Given the description of an element on the screen output the (x, y) to click on. 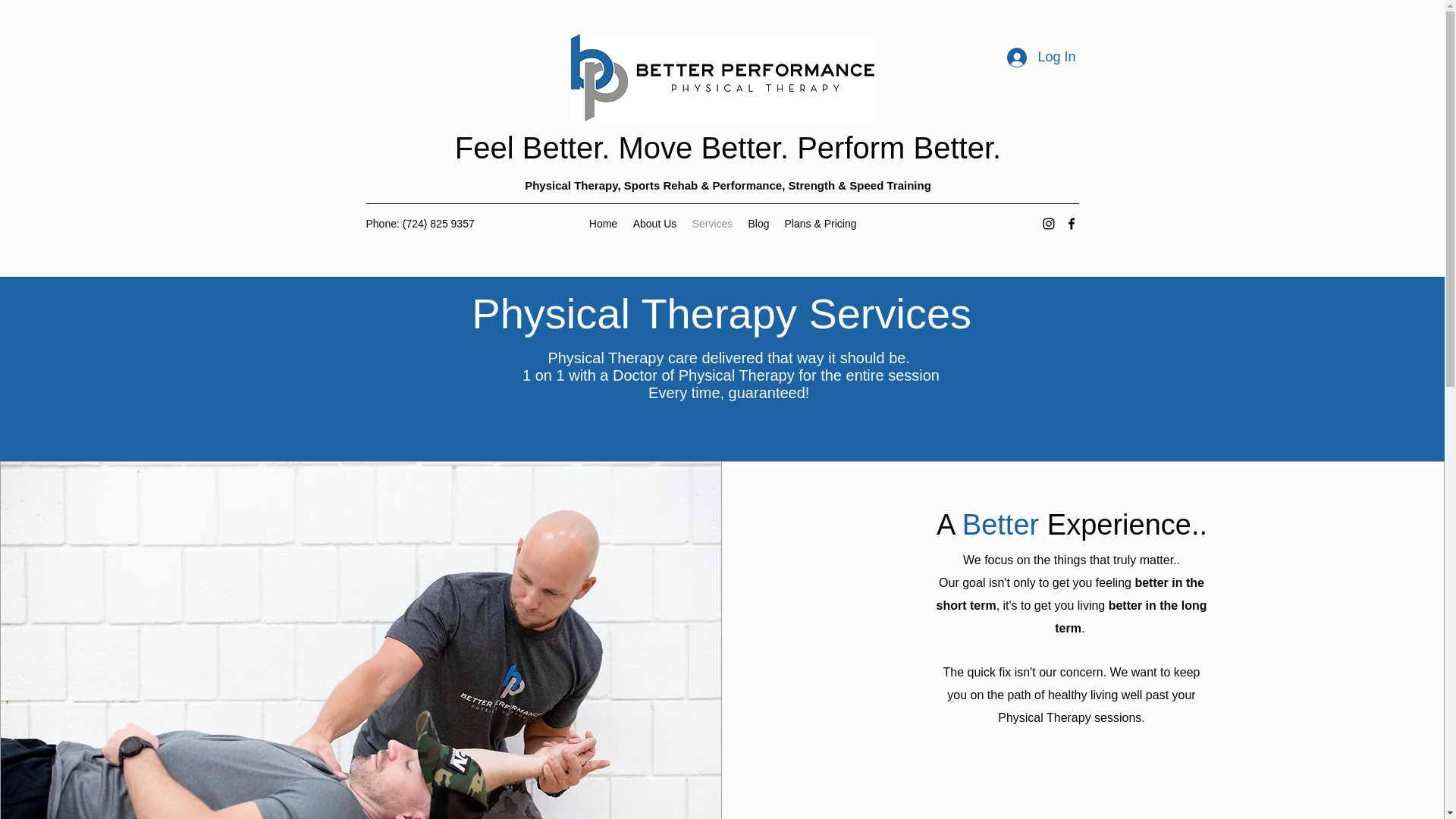
Services (711, 223)
About Us (654, 223)
Blog (757, 223)
Home (602, 223)
Log In (1040, 57)
